Given the description of an element on the screen output the (x, y) to click on. 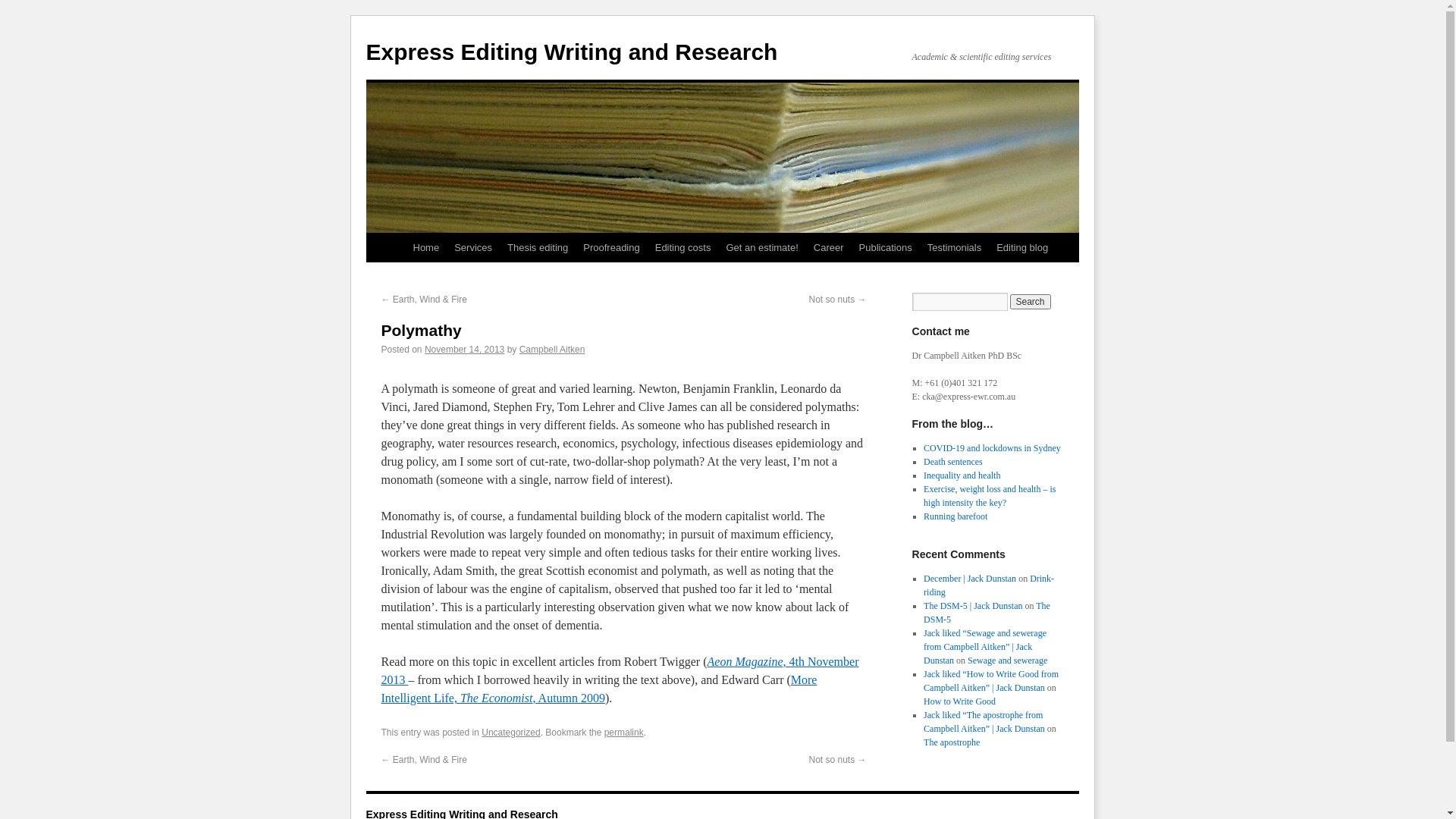
Express Editing Writing and Research Element type: text (571, 51)
Campbell Aitken Element type: text (552, 349)
More Intelligent Life, The Economist, Autumn 2009 Element type: text (598, 688)
Search Element type: text (1030, 301)
COVID-19 and lockdowns in Sydney Element type: text (991, 447)
How to Write Good Element type: text (959, 701)
Home Element type: text (425, 247)
Running barefoot Element type: text (955, 516)
Publications Element type: text (885, 247)
Services Element type: text (472, 247)
Get an estimate! Element type: text (761, 247)
Proofreading Element type: text (610, 247)
Death sentences Element type: text (952, 461)
December | Jack Dunstan Element type: text (969, 578)
Uncategorized Element type: text (510, 732)
The DSM-5 Element type: text (986, 612)
Inequality and health Element type: text (961, 475)
Sewage and sewerage Element type: text (1007, 660)
Editing blog Element type: text (1021, 247)
The apostrophe Element type: text (951, 742)
The DSM-5 | Jack Dunstan Element type: text (972, 605)
Testimonials Element type: text (954, 247)
Thesis editing Element type: text (537, 247)
November 14, 2013 Element type: text (464, 349)
Career Element type: text (828, 247)
Aeon Magazine, 4th November 2013 Element type: text (619, 670)
Drink-riding Element type: text (988, 585)
permalink Element type: text (623, 732)
Editing costs Element type: text (682, 247)
